Given the description of an element on the screen output the (x, y) to click on. 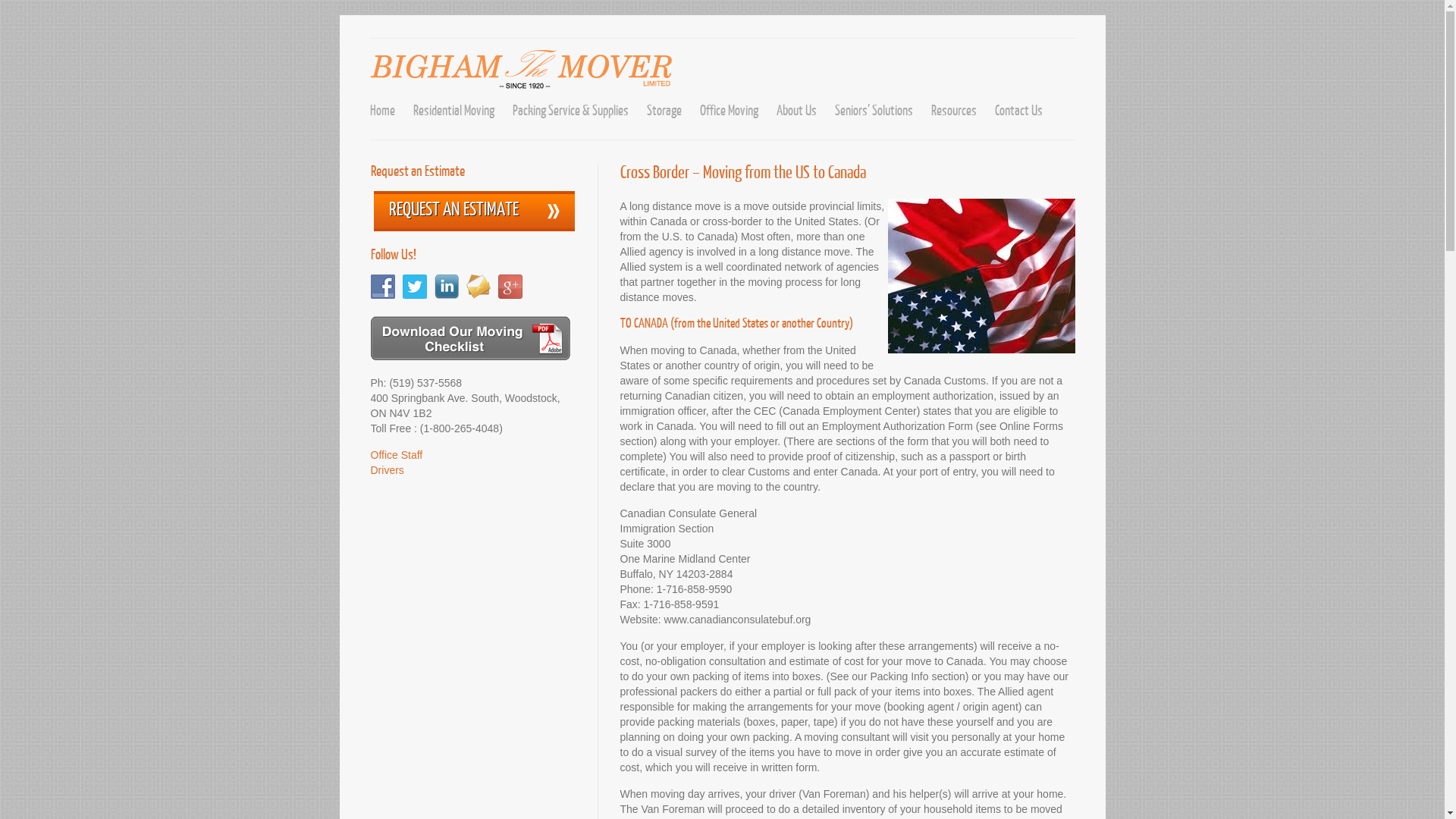
Office Moving Element type: text (728, 110)
Connect with us on Google+ Element type: hover (509, 286)
Resources Element type: text (953, 110)
Connect with us on Twitter Element type: hover (413, 286)
Connect with us on E-mail Element type: hover (477, 286)
About Us Element type: text (796, 110)
Residential Moving Element type: text (452, 110)
Drivers Element type: text (386, 470)
Storage Element type: text (663, 110)
Connect with us on LinkedIn Element type: hover (445, 286)
Contact Us Element type: text (1018, 110)
Office Staff Element type: text (396, 454)
Connect with us on Facebook Element type: hover (382, 286)
Home Element type: text (382, 110)
Packing Service & Supplies Element type: text (570, 110)
